Given the description of an element on the screen output the (x, y) to click on. 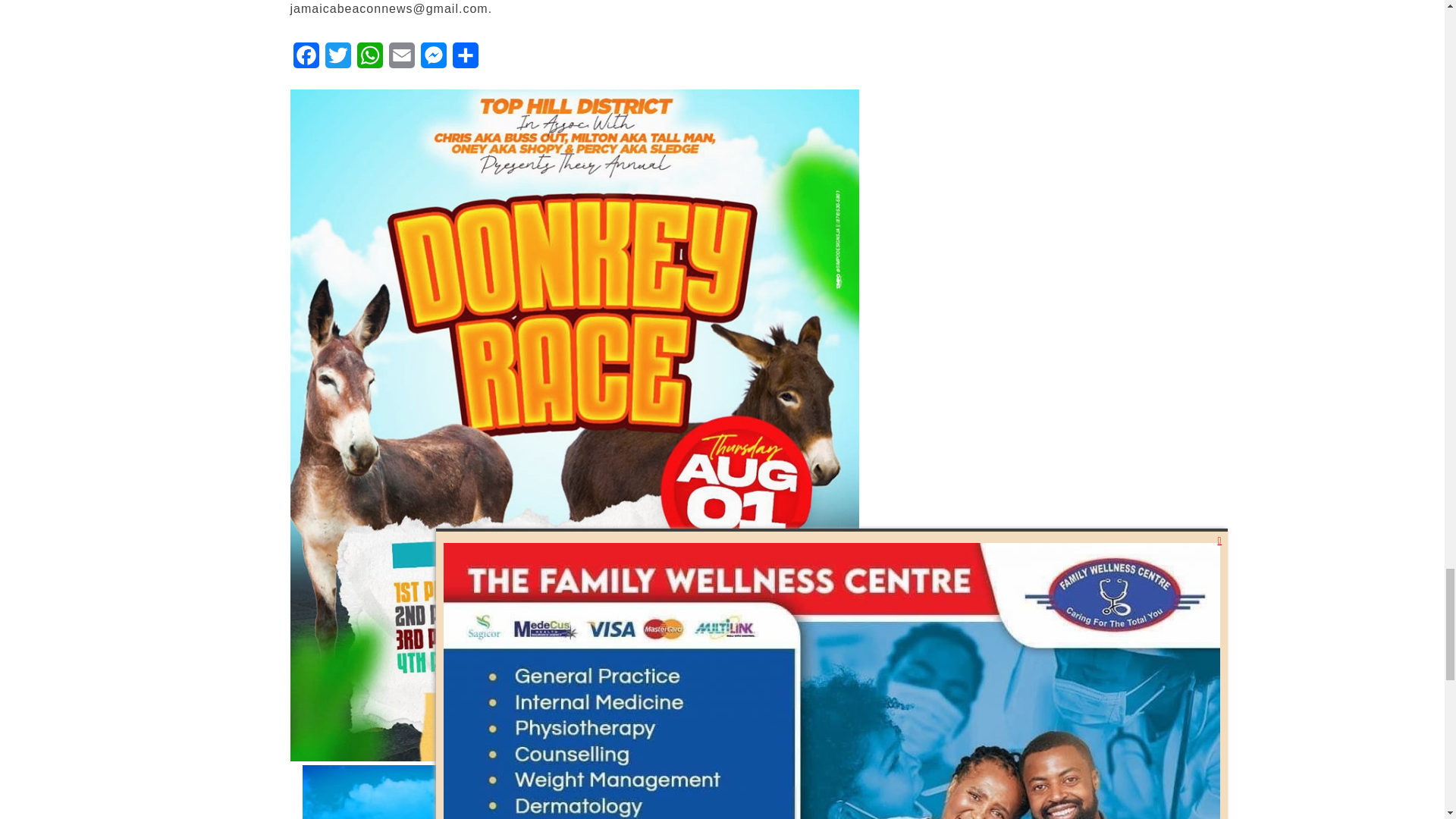
WhatsApp (369, 59)
Twitter (337, 59)
Twitter (337, 59)
WhatsApp (369, 59)
Facebook (305, 59)
Email (400, 59)
Facebook (305, 59)
Messenger (432, 59)
Email (400, 59)
